Given the description of an element on the screen output the (x, y) to click on. 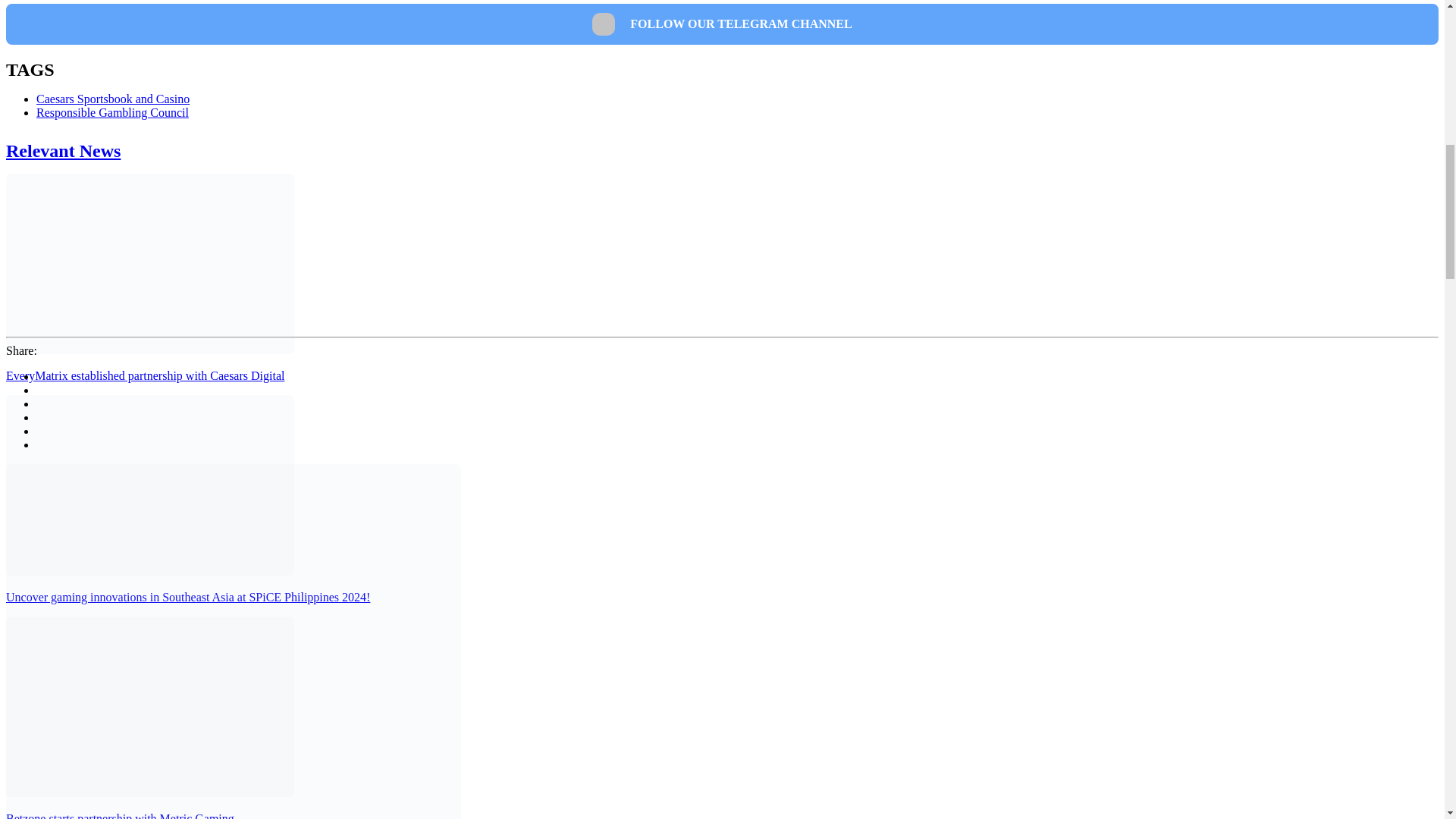
Relevant News (62, 150)
Caesars Sportsbook and Casino (112, 98)
EveryMatrix established partnership with Caesars Digital (144, 375)
Responsible Gambling Council (112, 112)
